Given the description of an element on the screen output the (x, y) to click on. 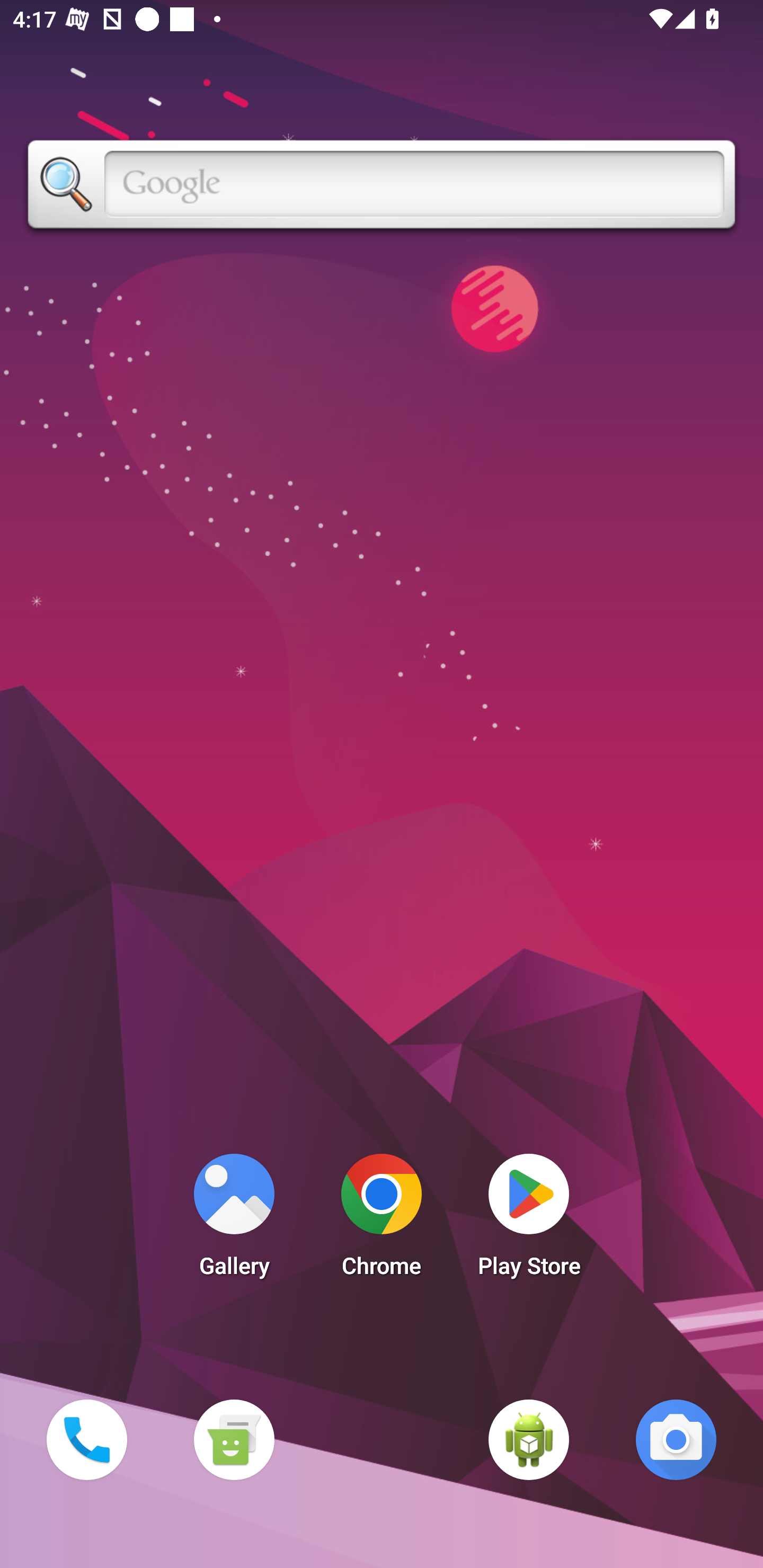
Gallery (233, 1220)
Chrome (381, 1220)
Play Store (528, 1220)
Phone (86, 1439)
Messaging (233, 1439)
WebView Browser Tester (528, 1439)
Camera (676, 1439)
